Given the description of an element on the screen output the (x, y) to click on. 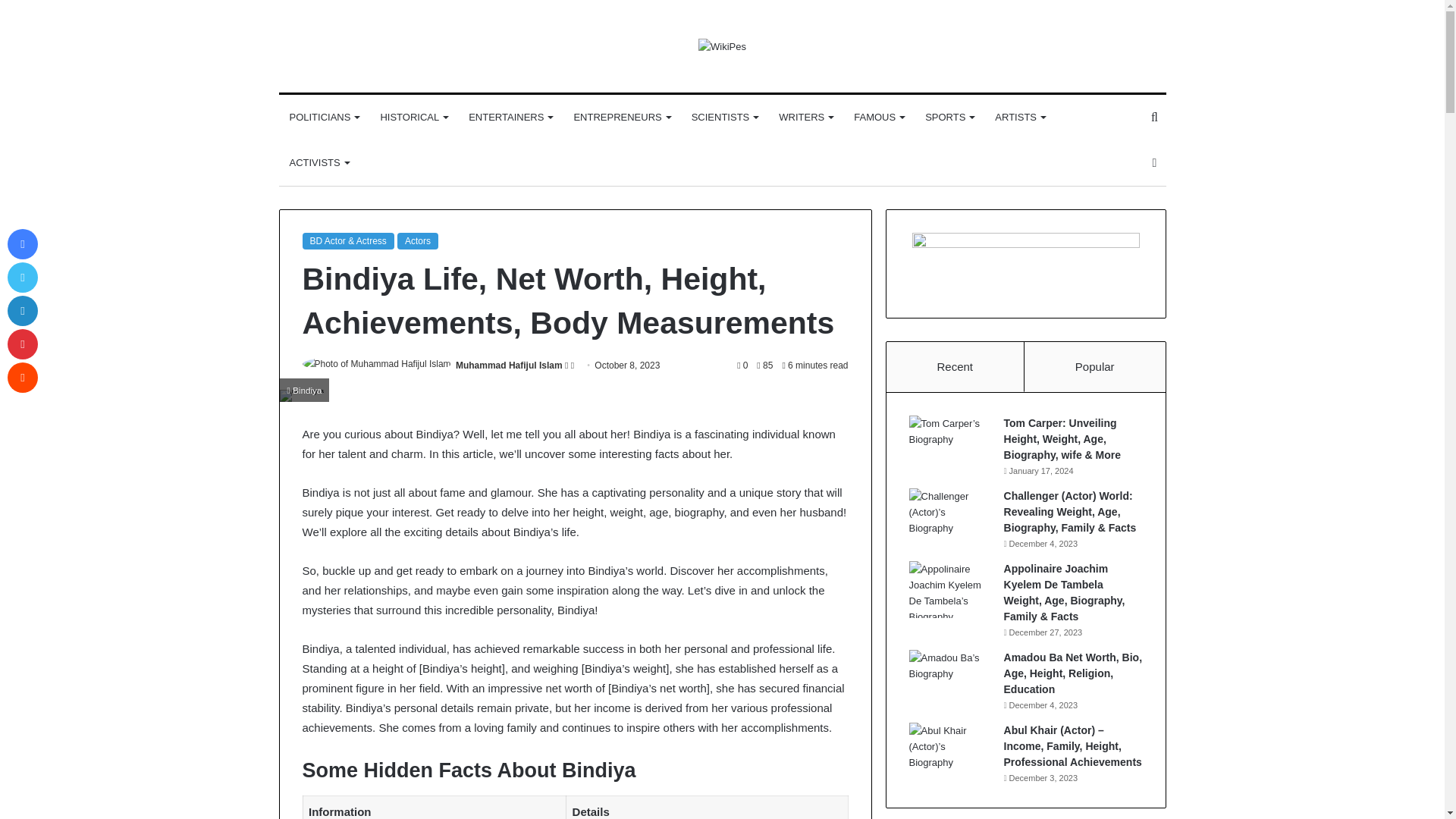
Muhammad Hafijul Islam (508, 365)
WikiPes (721, 45)
Switch skin (1154, 162)
ENTREPRENEURS (620, 117)
POLITICIANS (324, 117)
WRITERS (805, 117)
FAMOUS (878, 117)
ENTERTAINERS (510, 117)
ARTISTS (1019, 117)
SPORTS (949, 117)
SCIENTISTS (724, 117)
HISTORICAL (413, 117)
Follow on Twitter (567, 365)
